Given the description of an element on the screen output the (x, y) to click on. 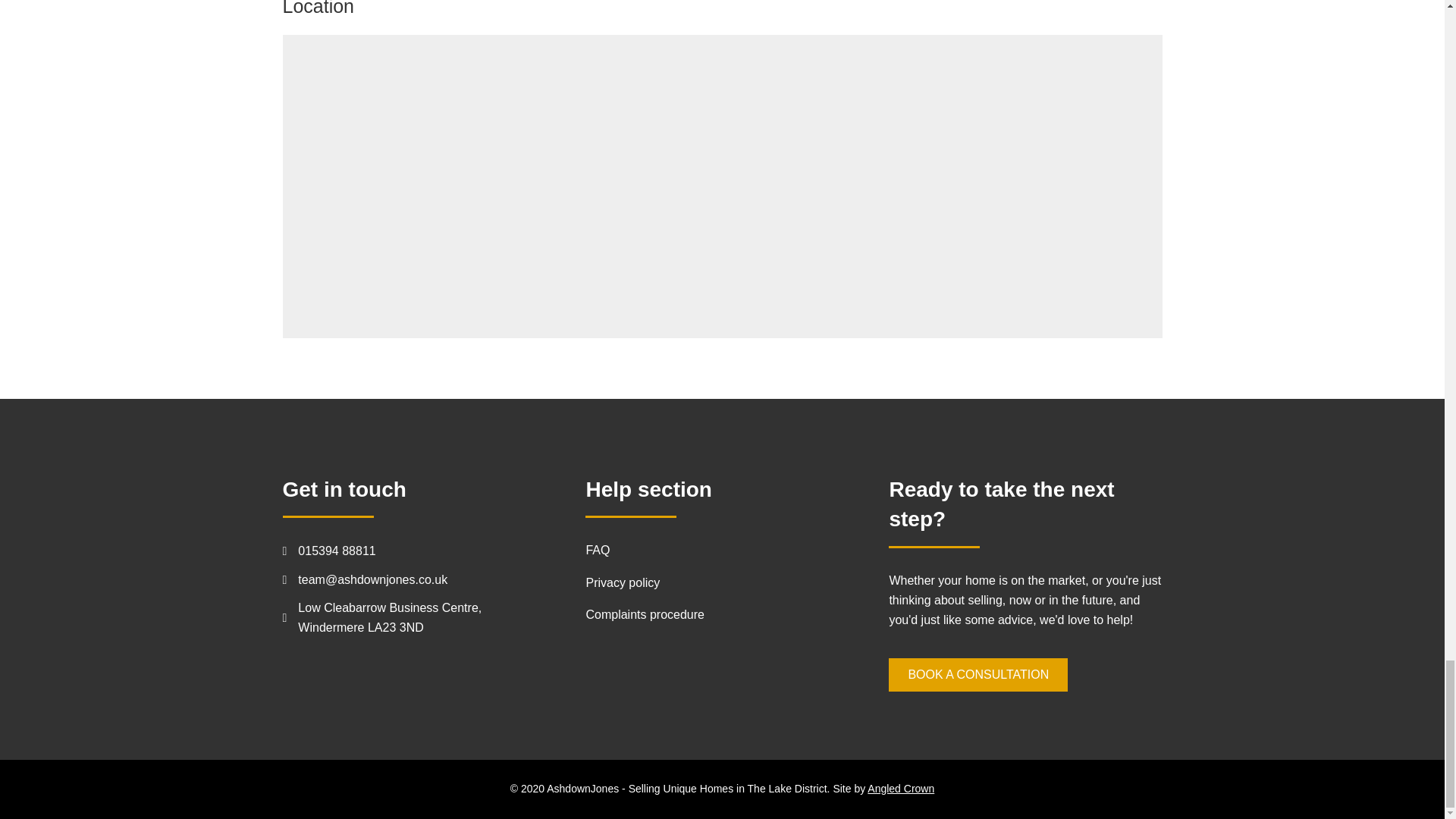
FAQ (597, 549)
Angled Crown (900, 788)
Complaints procedure (644, 614)
Privacy policy (622, 582)
BOOK A CONSULTATION (977, 674)
015394 88811 (336, 550)
